Given the description of an element on the screen output the (x, y) to click on. 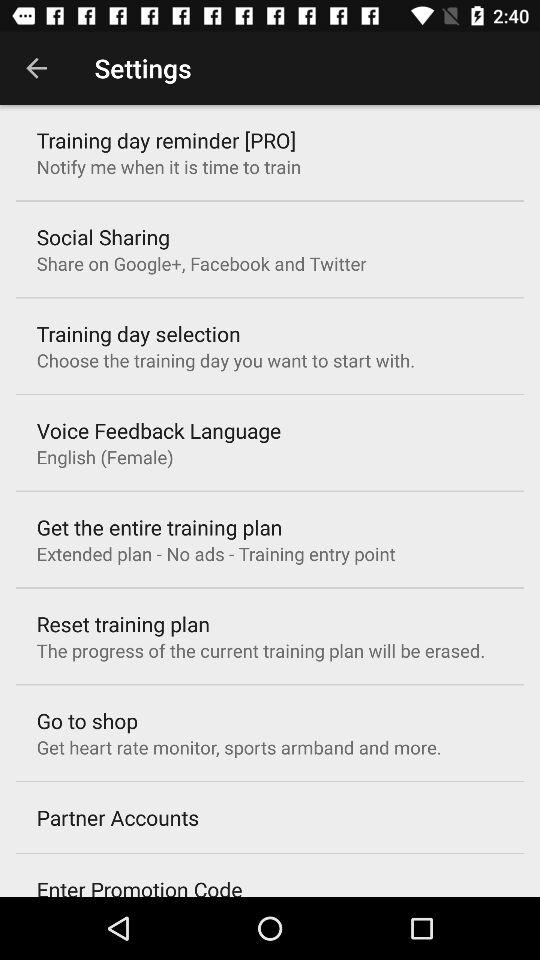
scroll to get heart rate icon (238, 747)
